Given the description of an element on the screen output the (x, y) to click on. 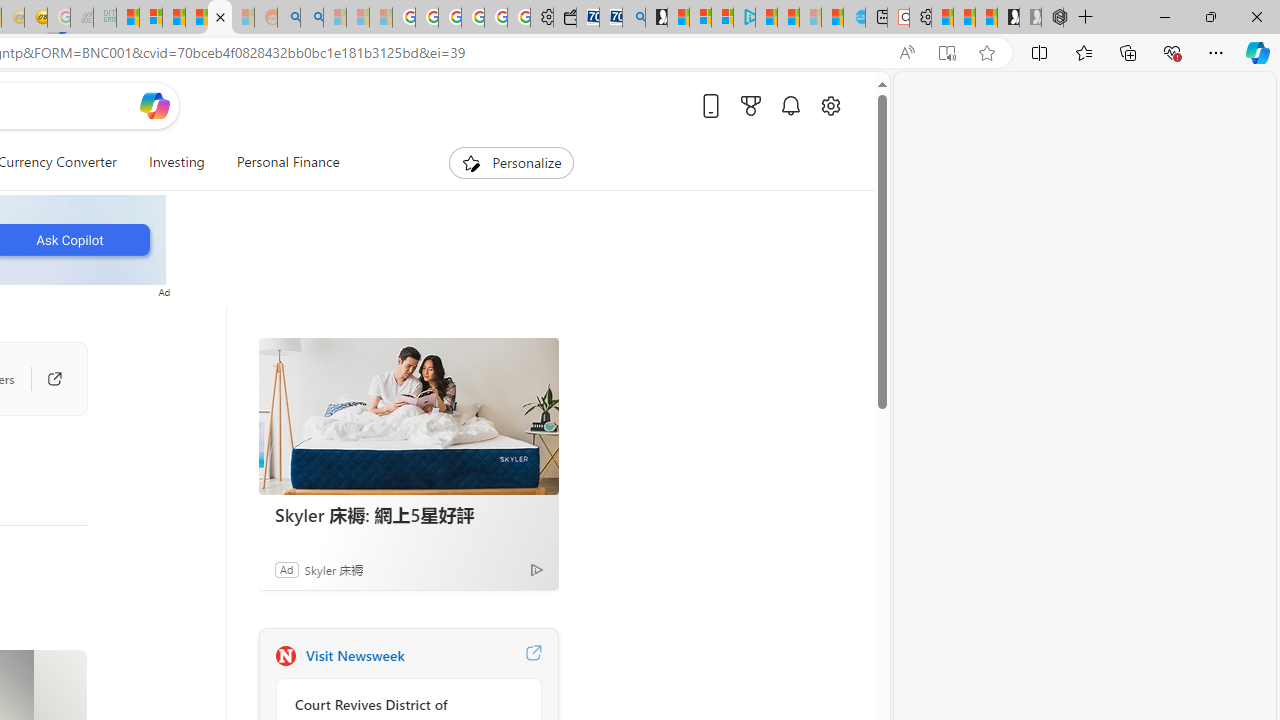
Play Free Online Games | Games from Microsoft Start (1008, 17)
Personalize (511, 162)
Notifications (790, 105)
To get missing image descriptions, open the context menu. (471, 162)
Microsoft rewards (749, 105)
Newsweek (285, 655)
Personal Finance (287, 162)
